Given the description of an element on the screen output the (x, y) to click on. 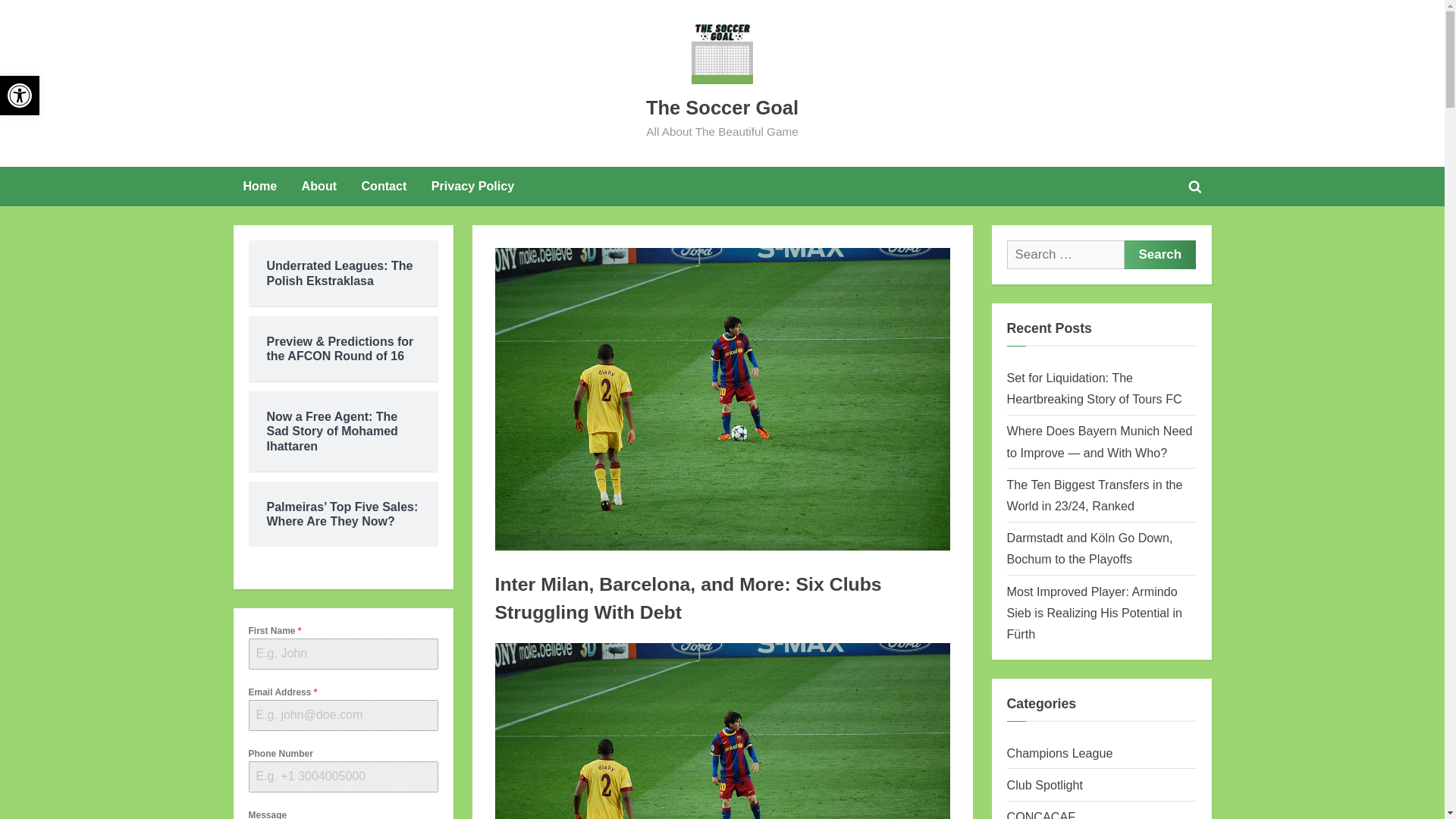
Accessibility Tools (19, 95)
Privacy Policy (541, 644)
Search (473, 186)
Home (1159, 254)
The Soccer Goal (553, 644)
Accessibility Tools (19, 95)
Contact (259, 186)
Toggle search form (721, 107)
Search (19, 95)
About (383, 186)
